Given the description of an element on the screen output the (x, y) to click on. 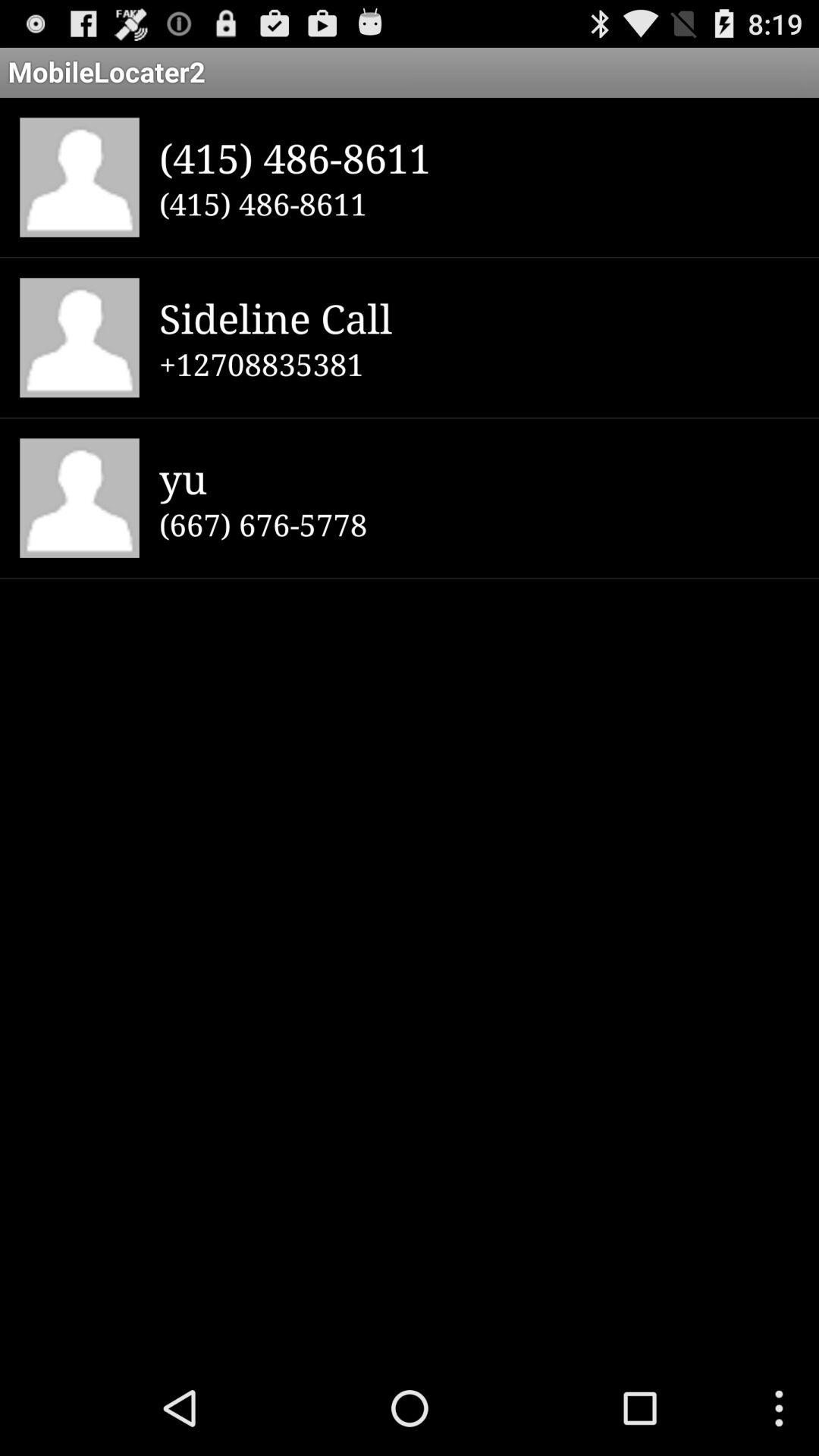
flip to +12708835381 app (479, 363)
